Given the description of an element on the screen output the (x, y) to click on. 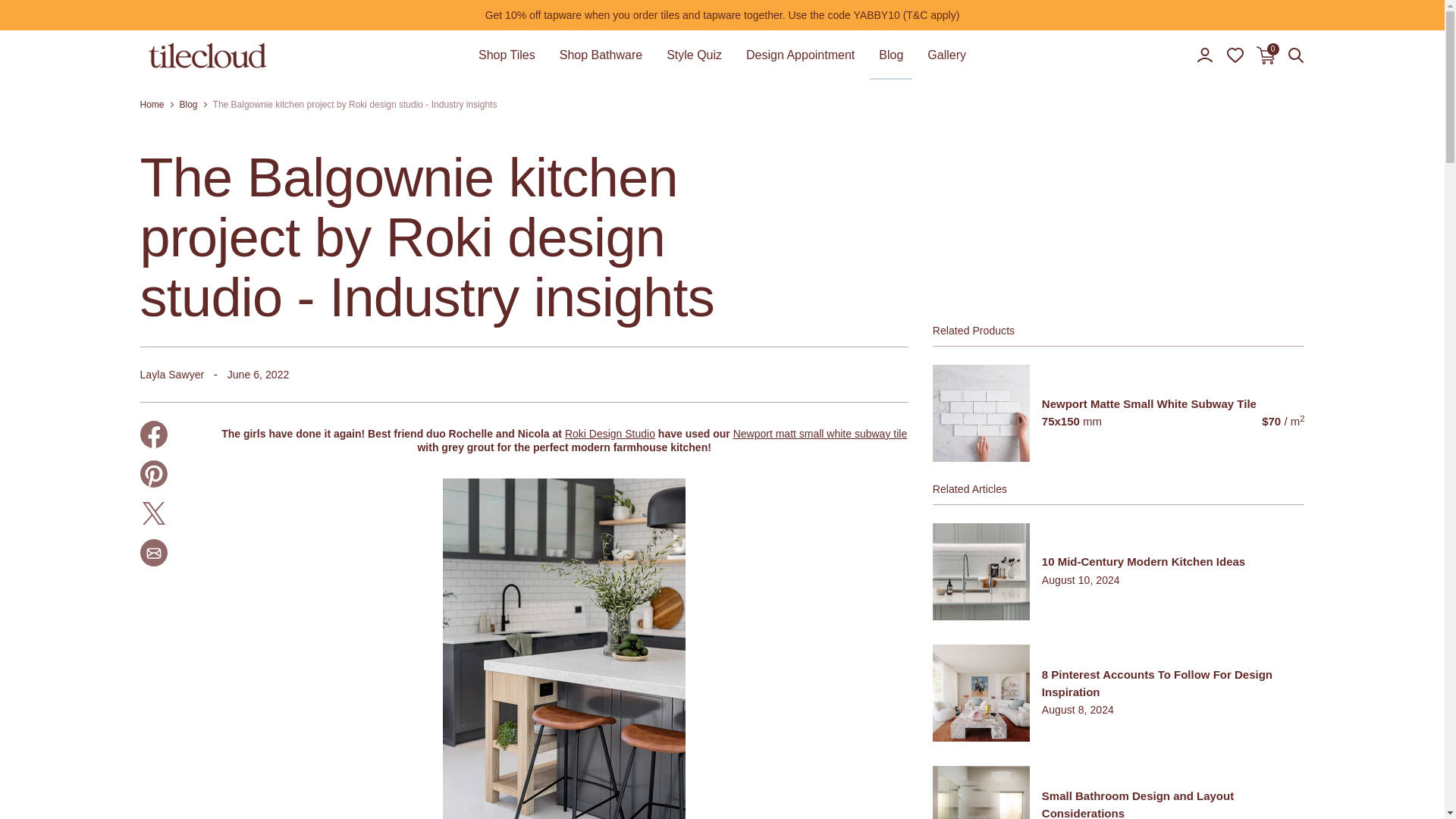
Share via Email (153, 552)
Shop Tiles (507, 55)
Search (1294, 54)
Style Quiz (694, 55)
Design Appointment (799, 55)
Shop Bathware (600, 55)
Share on Twitter (153, 513)
Share on Pinterest (153, 473)
Login (1203, 54)
Gallery (946, 55)
